Given the description of an element on the screen output the (x, y) to click on. 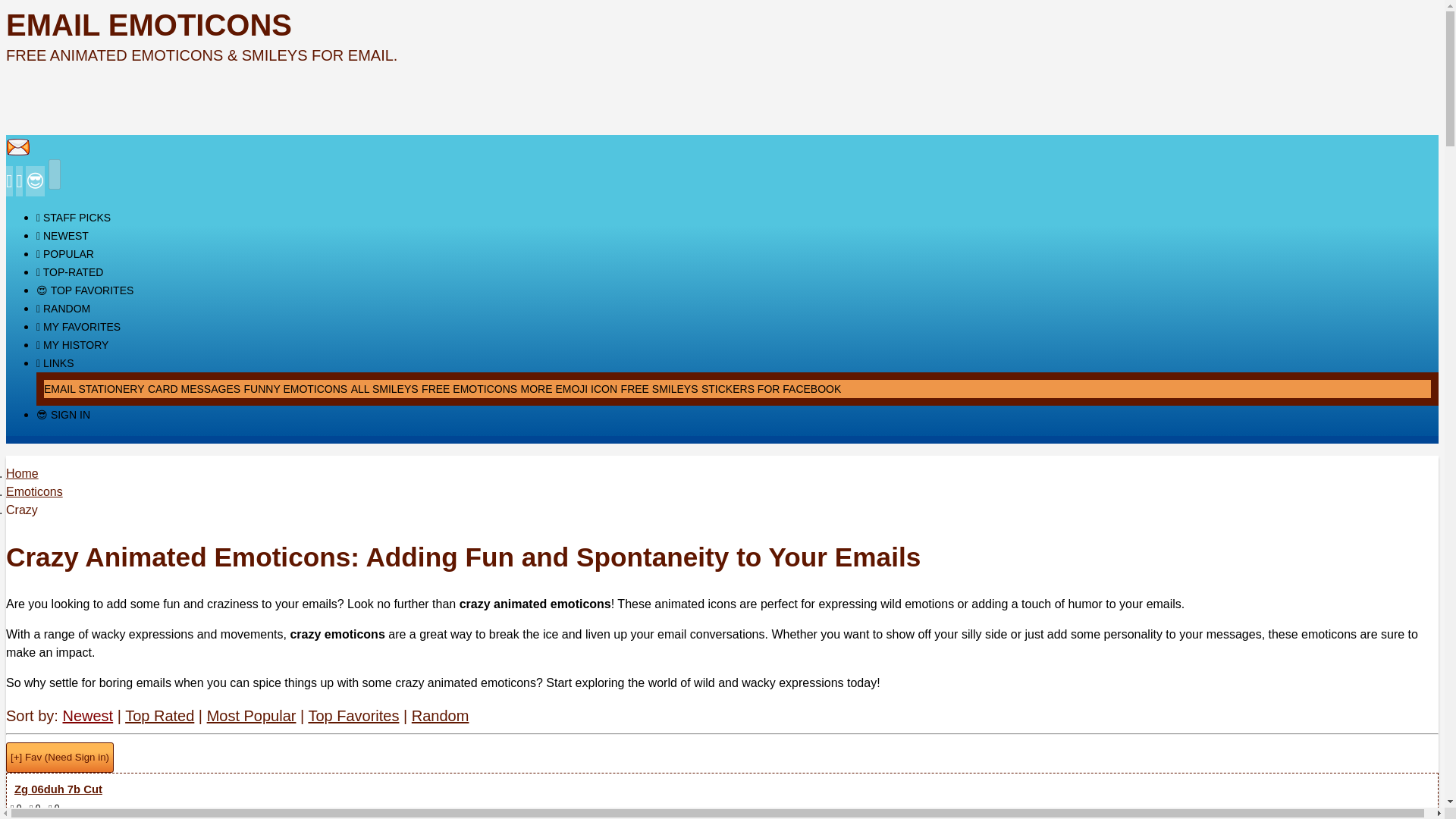
STICKERS FOR FACEBOOK (771, 388)
FREE SMILEYS (659, 388)
Zg 06duh 7b Cut (722, 789)
ALL SMILEYS (384, 388)
Emoticons (33, 491)
FUNNY EMOTICONS (295, 388)
FREE EMOTICONS (469, 388)
Zg 06duh 7b Cut (722, 789)
EMAIL STATIONERY (93, 388)
Favorited: 0 times (53, 808)
EMAIL EMOTICONS (148, 24)
Top Favorites (352, 715)
Copied: 0 times (34, 808)
Top Rated (159, 715)
Newest (87, 715)
